Given the description of an element on the screen output the (x, y) to click on. 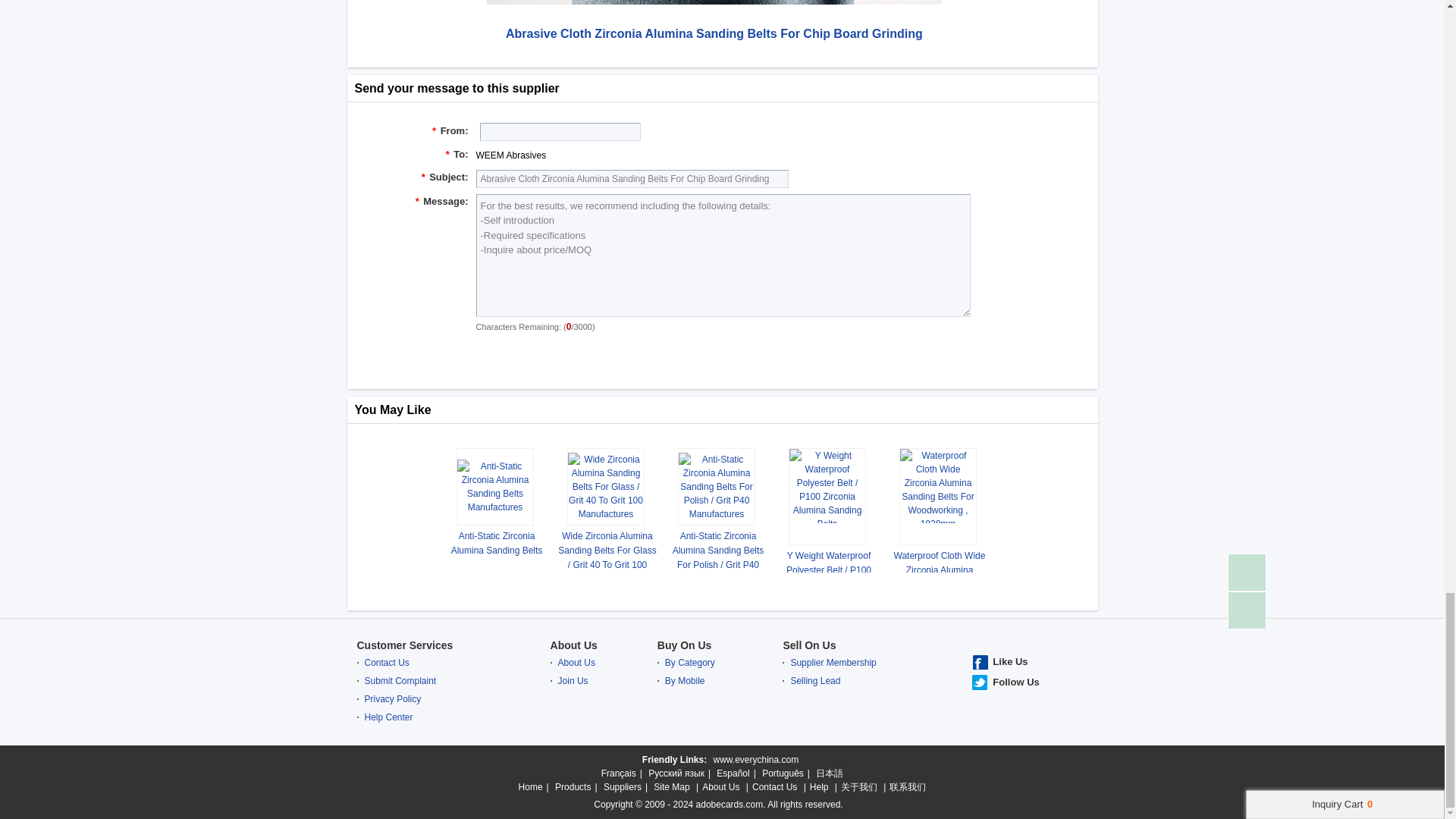
Anti-Static Zirconia Alumina Sanding Belts (497, 542)
Contact China factory now (720, 355)
 Anti-Static Zirconia Alumina Sanding Belts Manufactures (494, 485)
Contact Now (720, 355)
Contact Now (720, 355)
Quality Anti-Static Zirconia Alumina Sanding Belts for sale (497, 542)
